Given the description of an element on the screen output the (x, y) to click on. 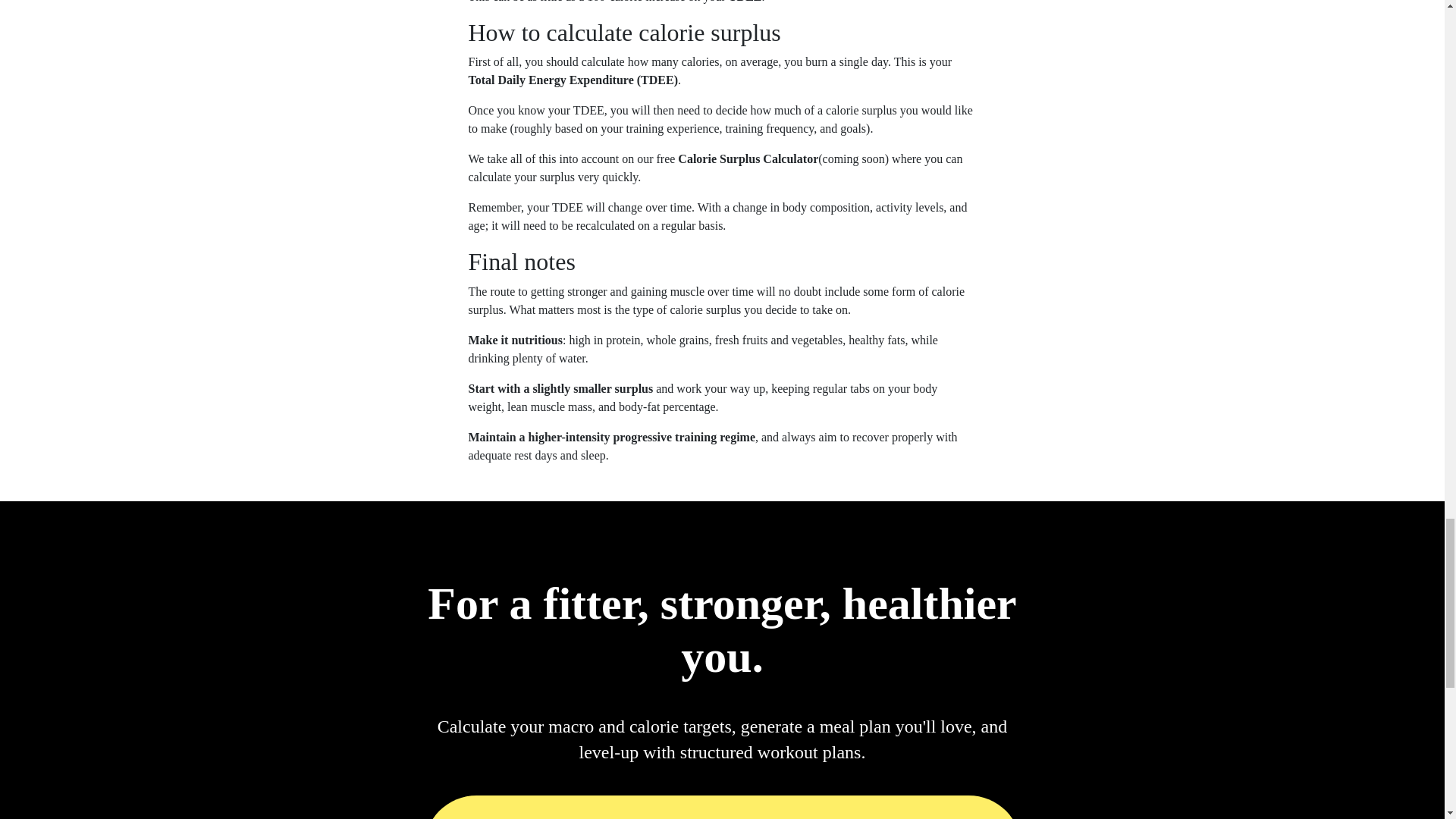
START NOW (721, 807)
